Given the description of an element on the screen output the (x, y) to click on. 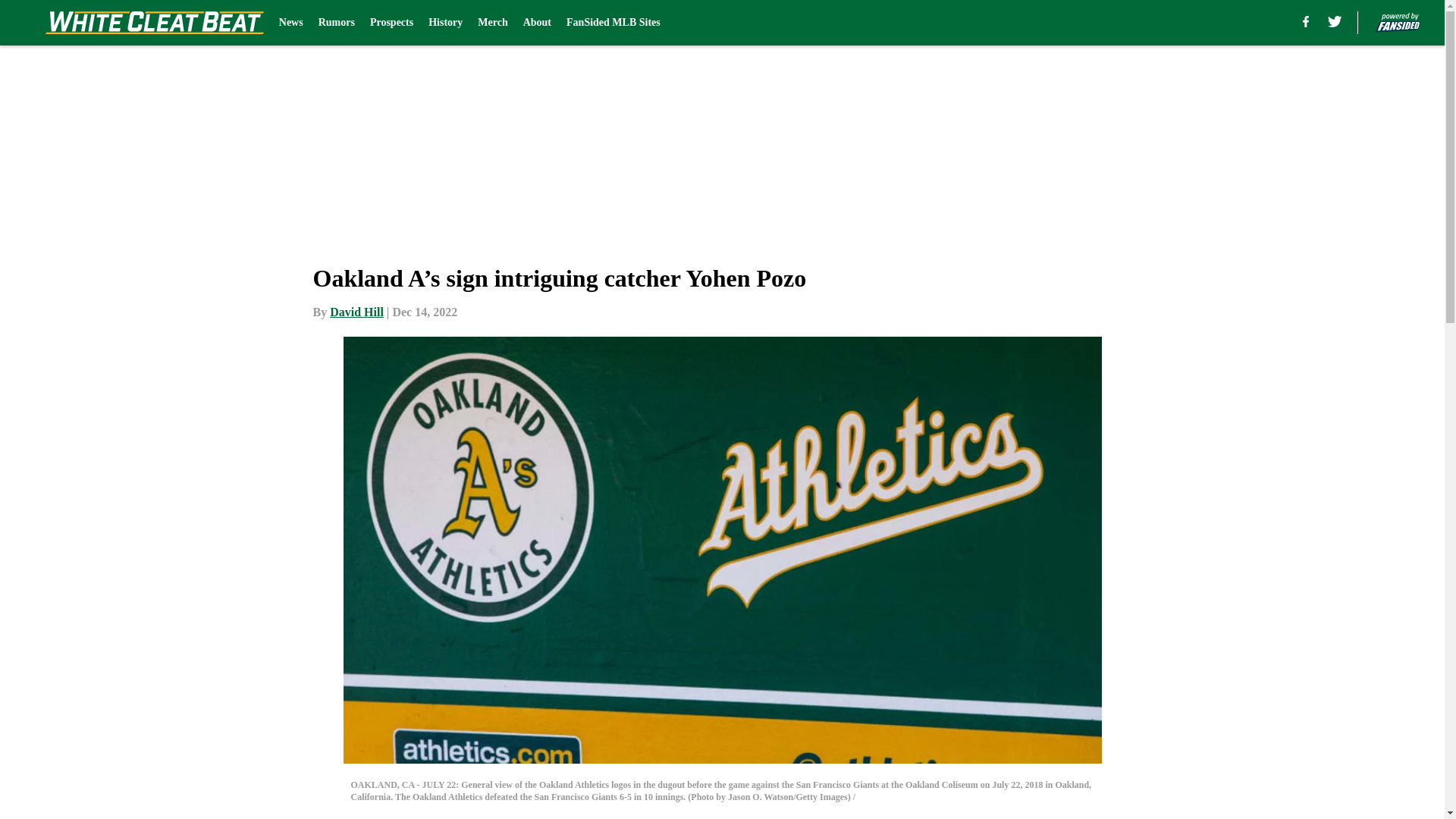
History (445, 22)
About (536, 22)
Merch (491, 22)
Prospects (391, 22)
FanSided MLB Sites (613, 22)
Rumors (336, 22)
David Hill (357, 311)
News (290, 22)
